Given the description of an element on the screen output the (x, y) to click on. 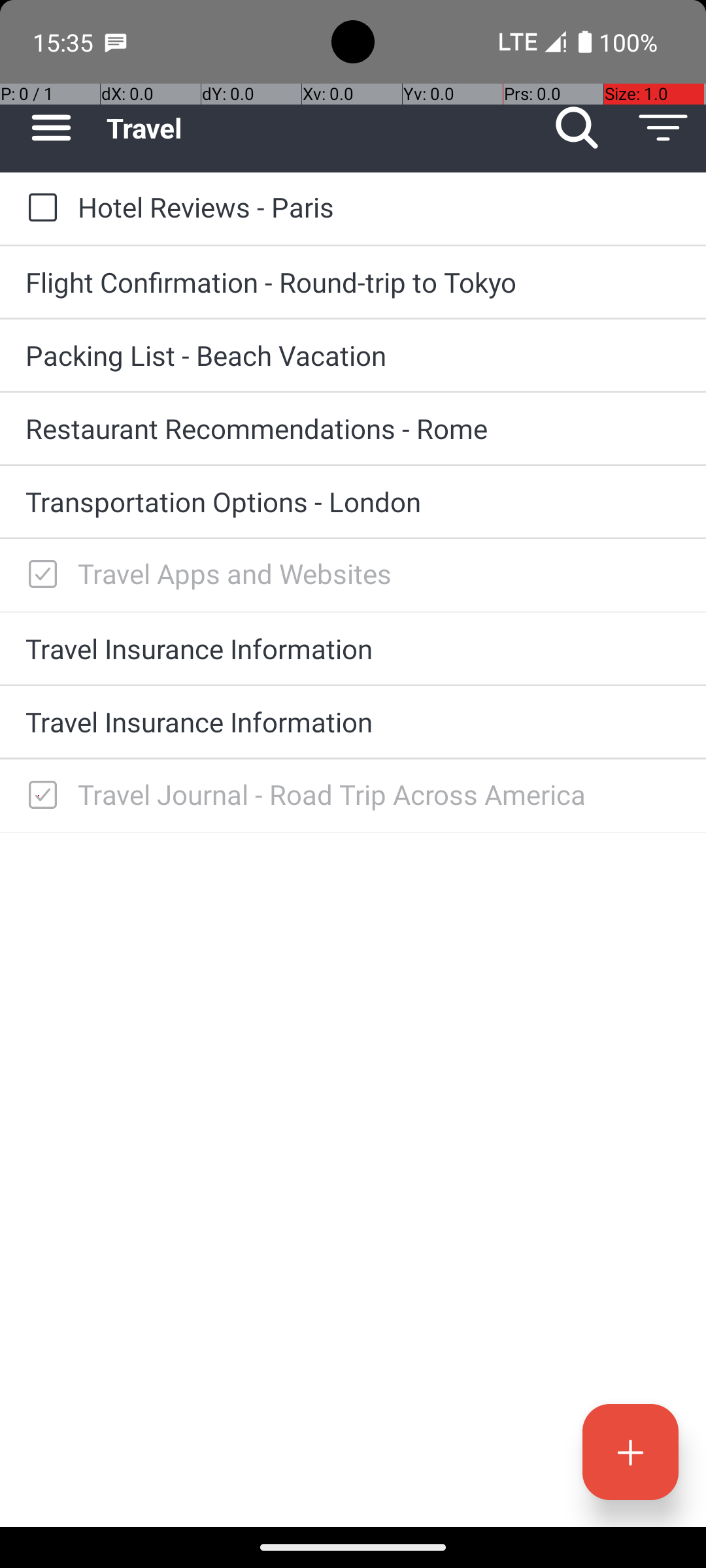
to-do: Hotel Reviews - Paris Element type: android.widget.CheckBox (38, 208)
Hotel Reviews - Paris Element type: android.widget.TextView (378, 206)
Flight Confirmation - Round-trip to Tokyo Element type: android.widget.TextView (352, 281)
Packing List - Beach Vacation Element type: android.widget.TextView (352, 354)
Transportation Options - London Element type: android.widget.TextView (352, 501)
to-do: Travel Apps and Websites Element type: android.widget.CheckBox (38, 575)
Travel Apps and Websites Element type: android.widget.TextView (378, 572)
Travel Insurance Information Element type: android.widget.TextView (352, 648)
to-do: Travel Journal - Road Trip Across America Element type: android.widget.CheckBox (38, 795)
Travel Journal - Road Trip Across America Element type: android.widget.TextView (378, 793)
